Given the description of an element on the screen output the (x, y) to click on. 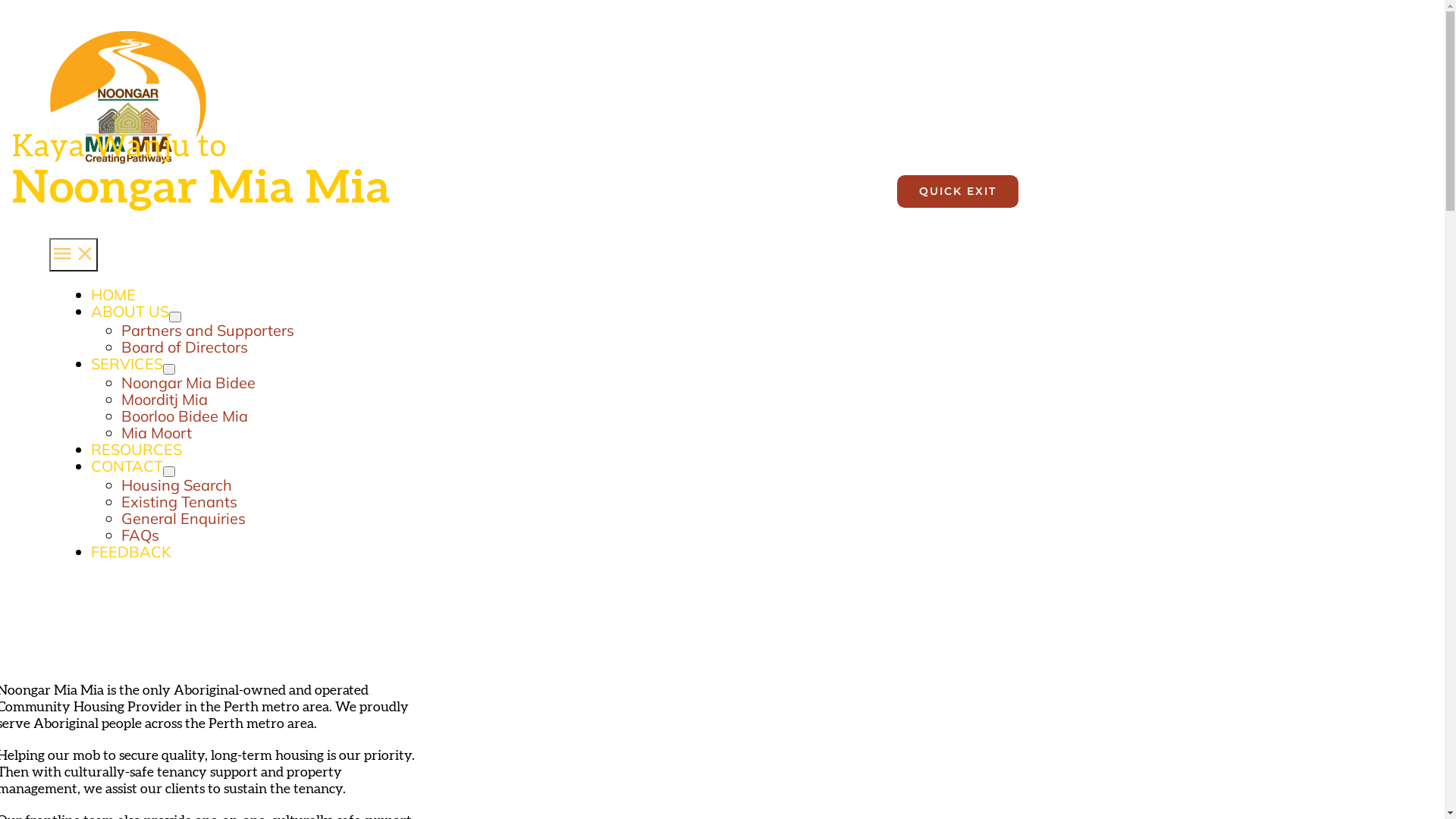
Mia Moort Element type: text (156, 432)
ABOUT US Element type: text (130, 311)
SERVICES Element type: text (127, 363)
FAQs Element type: text (140, 534)
RESOURCES Element type: text (136, 449)
Board of Directors Element type: text (184, 346)
Boorloo Bidee Mia Element type: text (184, 415)
HOME Element type: text (113, 295)
General Enquiries Element type: text (183, 517)
Noongar Mia Bidee Element type: text (188, 382)
QUICK EXIT Element type: text (957, 191)
CONTACT Element type: text (127, 465)
Existing Tenants Element type: text (179, 501)
Toggle Navigation Element type: text (73, 254)
Partners and Supporters Element type: text (207, 329)
FEEDBACK Element type: text (131, 551)
Housing Search Element type: text (176, 484)
Moorditj Mia Element type: text (164, 398)
